Given the description of an element on the screen output the (x, y) to click on. 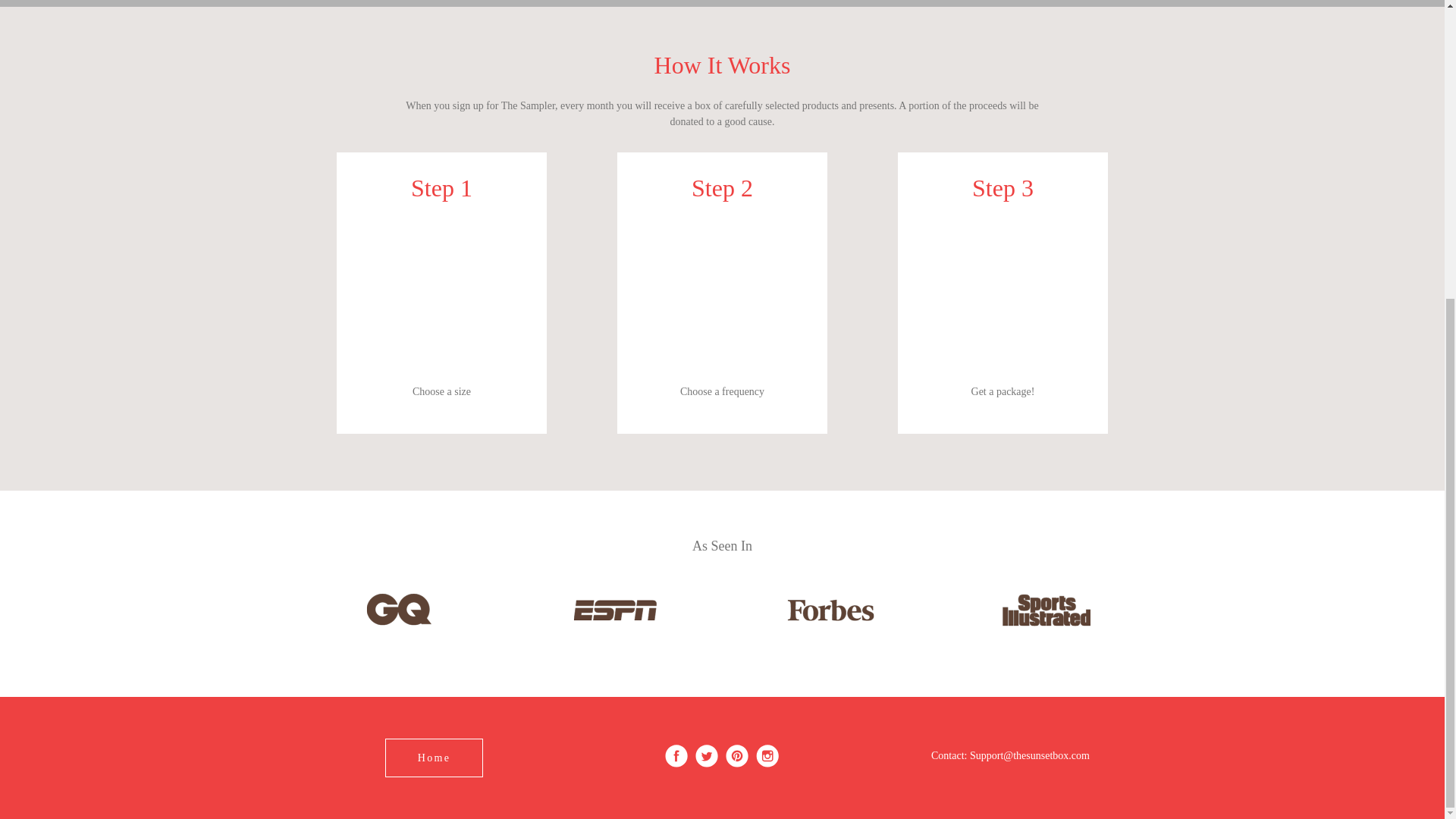
Home (434, 757)
